Given the description of an element on the screen output the (x, y) to click on. 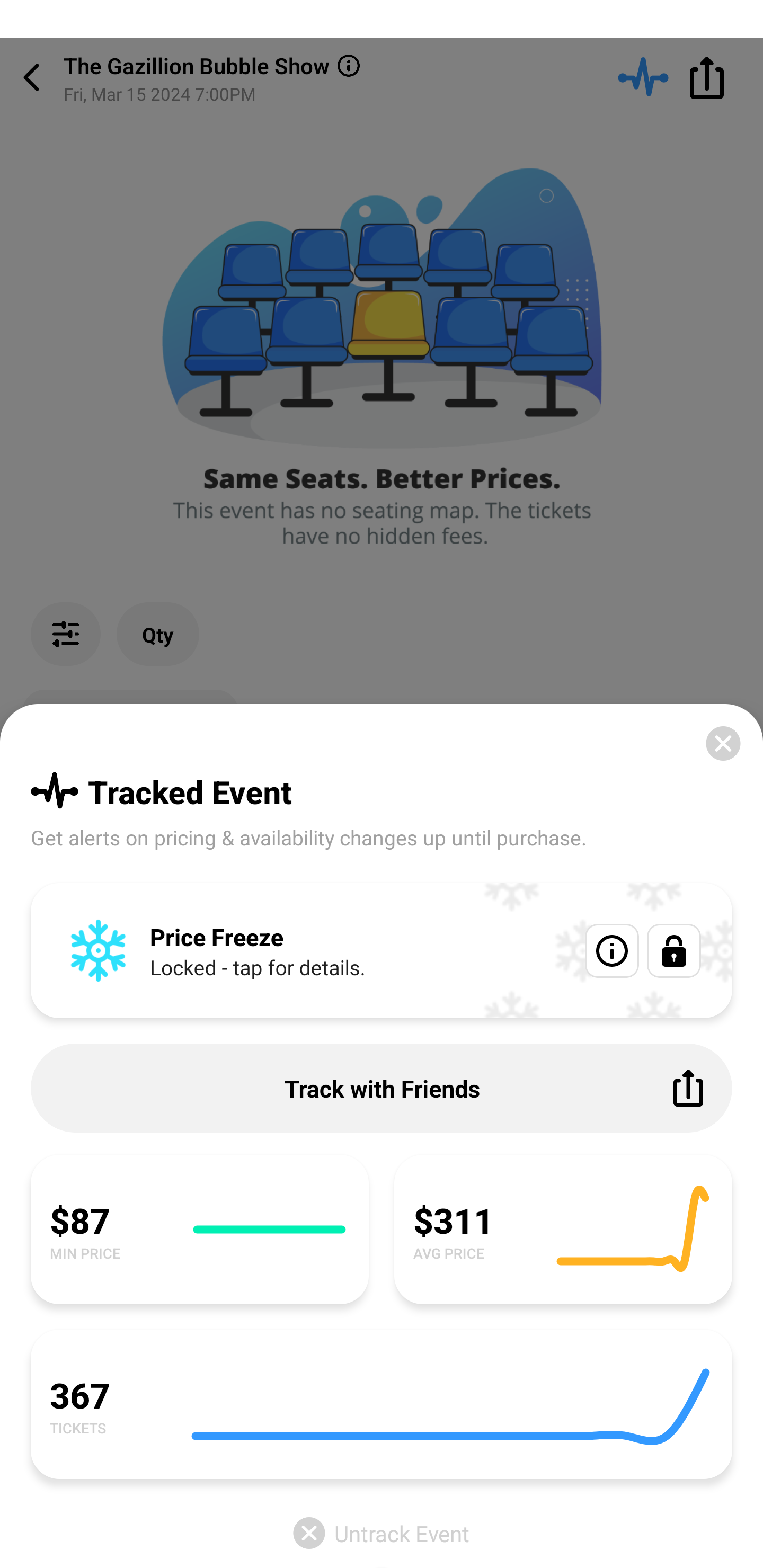
Track with Friends (381, 1088)
Untrack Event (381, 1533)
